Given the description of an element on the screen output the (x, y) to click on. 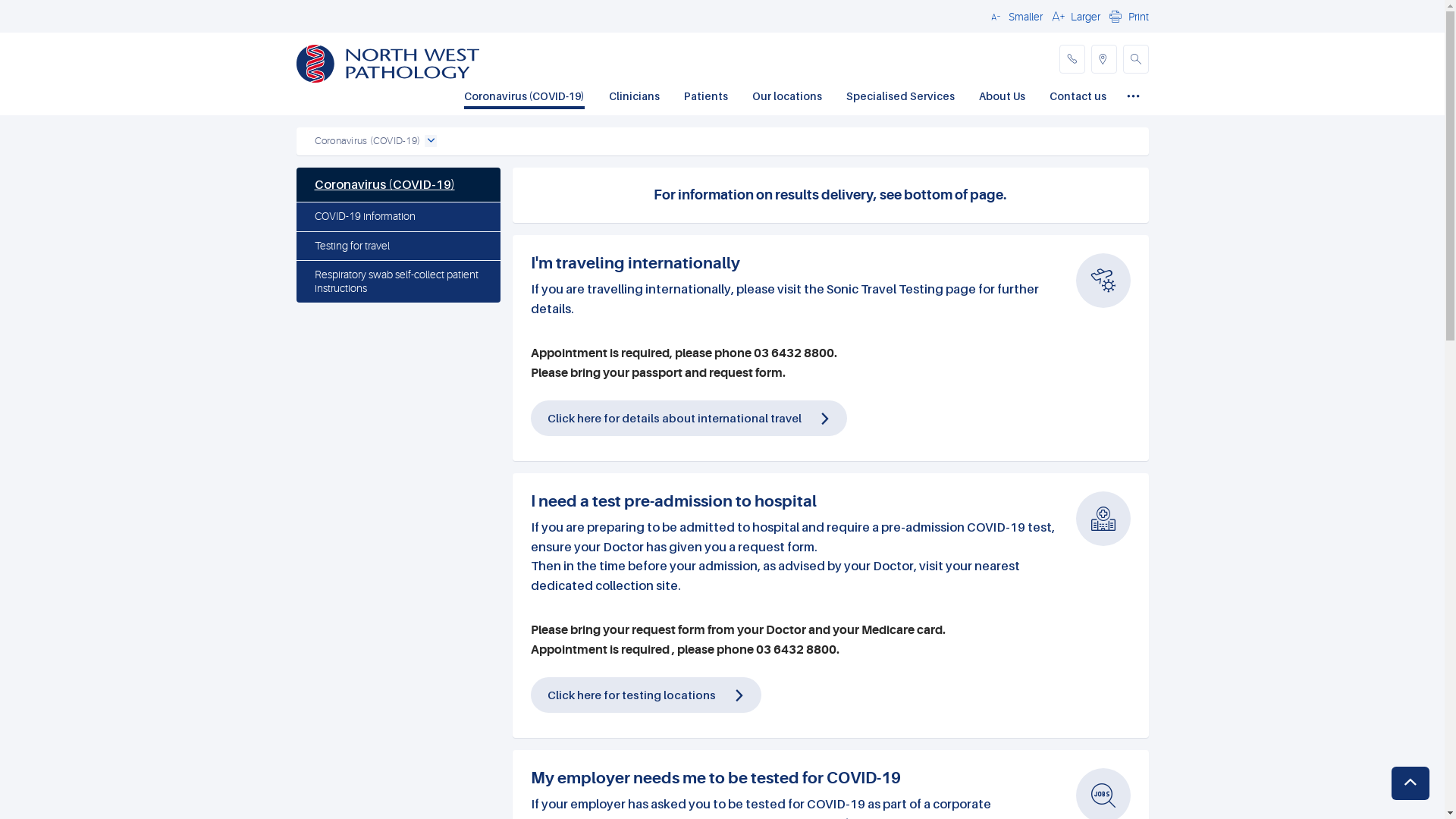
Click here for testing locations Element type: text (645, 708)
Specialised Services Element type: text (900, 97)
Respiratory swab self-collect patient instructions Element type: text (397, 281)
Click here for details about international travel Element type: text (674, 417)
Testing for travel Element type: text (397, 246)
Clinicians Element type: text (633, 97)
Coronavirus (COVID-19) Element type: text (366, 141)
About Us Element type: text (1001, 97)
phone Element type: hover (1071, 58)
Contact us Element type: text (1077, 97)
Print Element type: text (1126, 15)
Our locations Element type: text (787, 97)
Coronavirus (COVID-19) Element type: text (524, 97)
open dropdown Element type: hover (430, 140)
Patients Element type: text (706, 97)
Larger Element type: text (1073, 15)
location Element type: hover (1103, 58)
COVID-19 information Element type: text (397, 216)
Smaller Element type: text (1013, 15)
Coronavirus (COVID-19) Element type: text (397, 184)
